Given the description of an element on the screen output the (x, y) to click on. 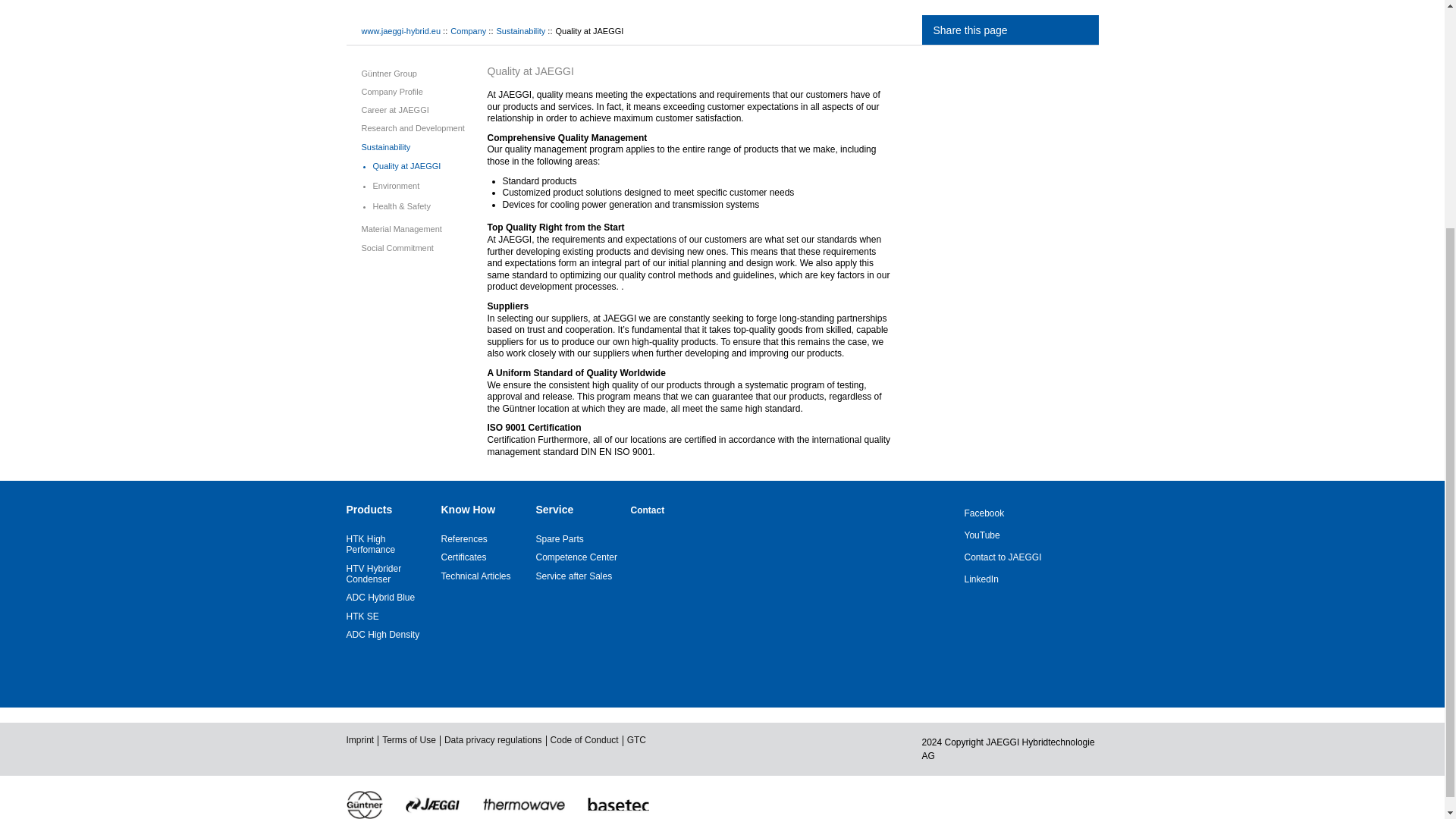
Career at JAEGGI (394, 109)
Opens internal link in current window (559, 538)
visit us on facebook (1010, 513)
Opens internal link in current window (463, 557)
Opens external link in new window (373, 573)
Opens external link in new window (380, 597)
Opens internal link in current window (464, 538)
Opens external link in new window (370, 544)
connect with us on LinkedIn (1010, 578)
get in touch with us (1010, 557)
